Given the description of an element on the screen output the (x, y) to click on. 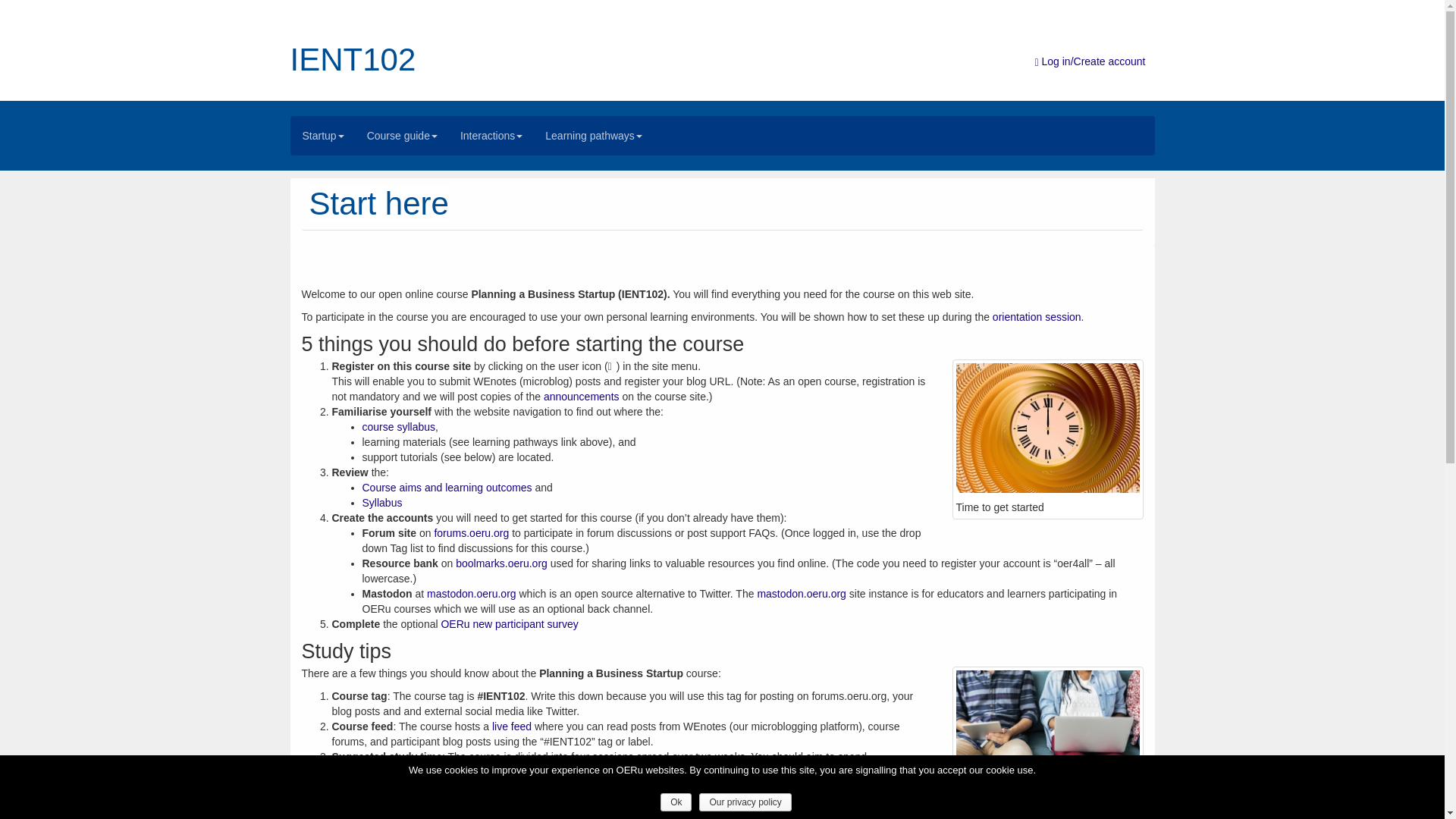
Start here (378, 203)
Learning pathways (593, 135)
boolmarks.oeru.org (501, 563)
Course aims and learning outcomes (447, 487)
announcements (581, 396)
Course guide (401, 135)
Startup (323, 135)
Syllabus (382, 502)
Interactions (491, 135)
Register or Log into OERu! (1088, 61)
